Given the description of an element on the screen output the (x, y) to click on. 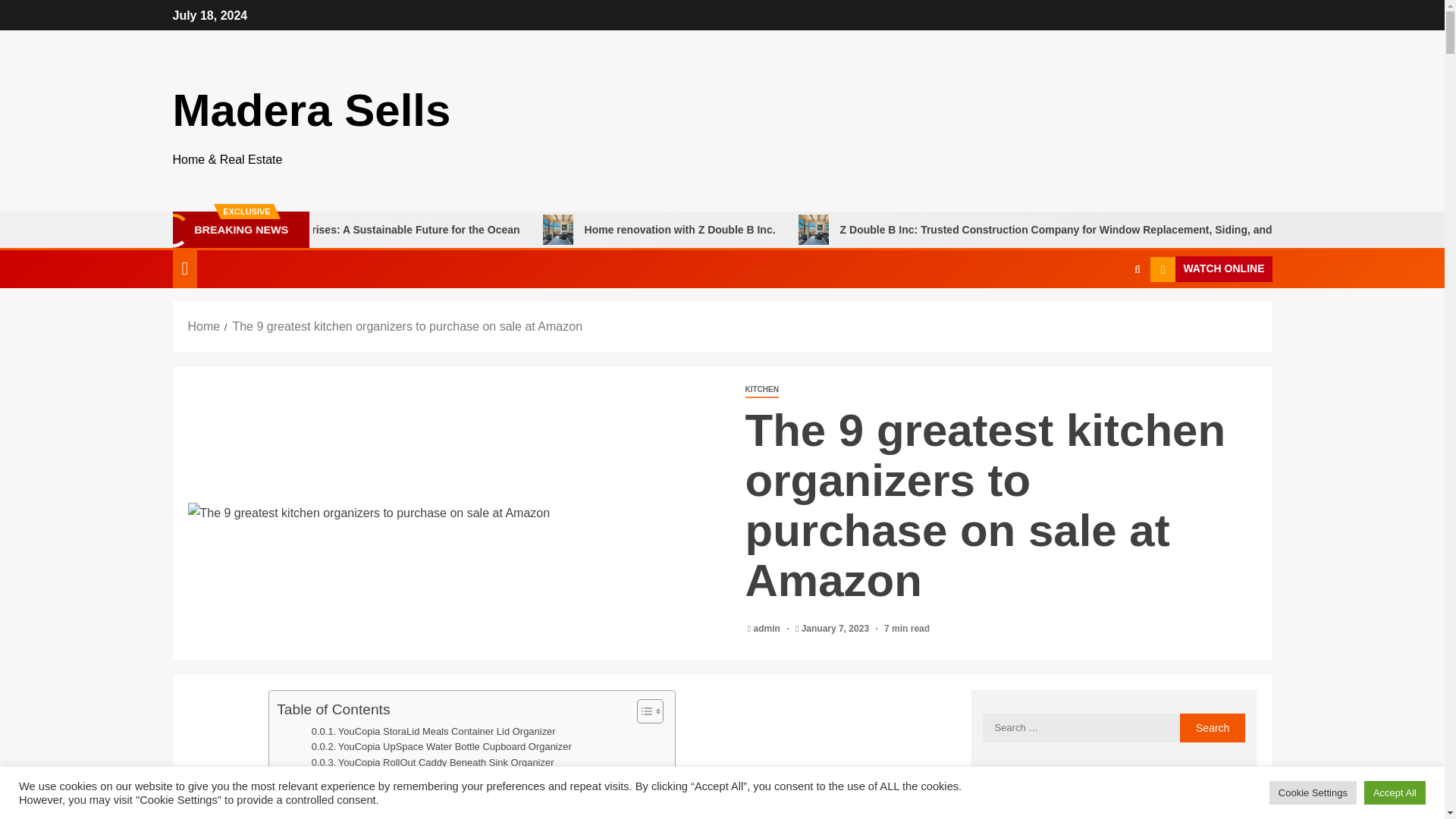
YouCopia ShelfSteps Can Organizer (404, 779)
Home (204, 326)
Search (1212, 727)
admin (768, 628)
Home renovation with Z Double B Inc. (786, 229)
YouCopia SpiceLiner Spice Drawer Liner (413, 810)
YouCopia  UpSpace Water Bottle Cupboard Organizer (441, 747)
YouCopia RollOut Caddy Beneath Sink Organizer (432, 763)
WATCH ONLINE (1210, 268)
Madera Sells (312, 110)
Search (1107, 315)
YouCopia UpSpace Water Bottle Cupboard Organizer (441, 747)
